Given the description of an element on the screen output the (x, y) to click on. 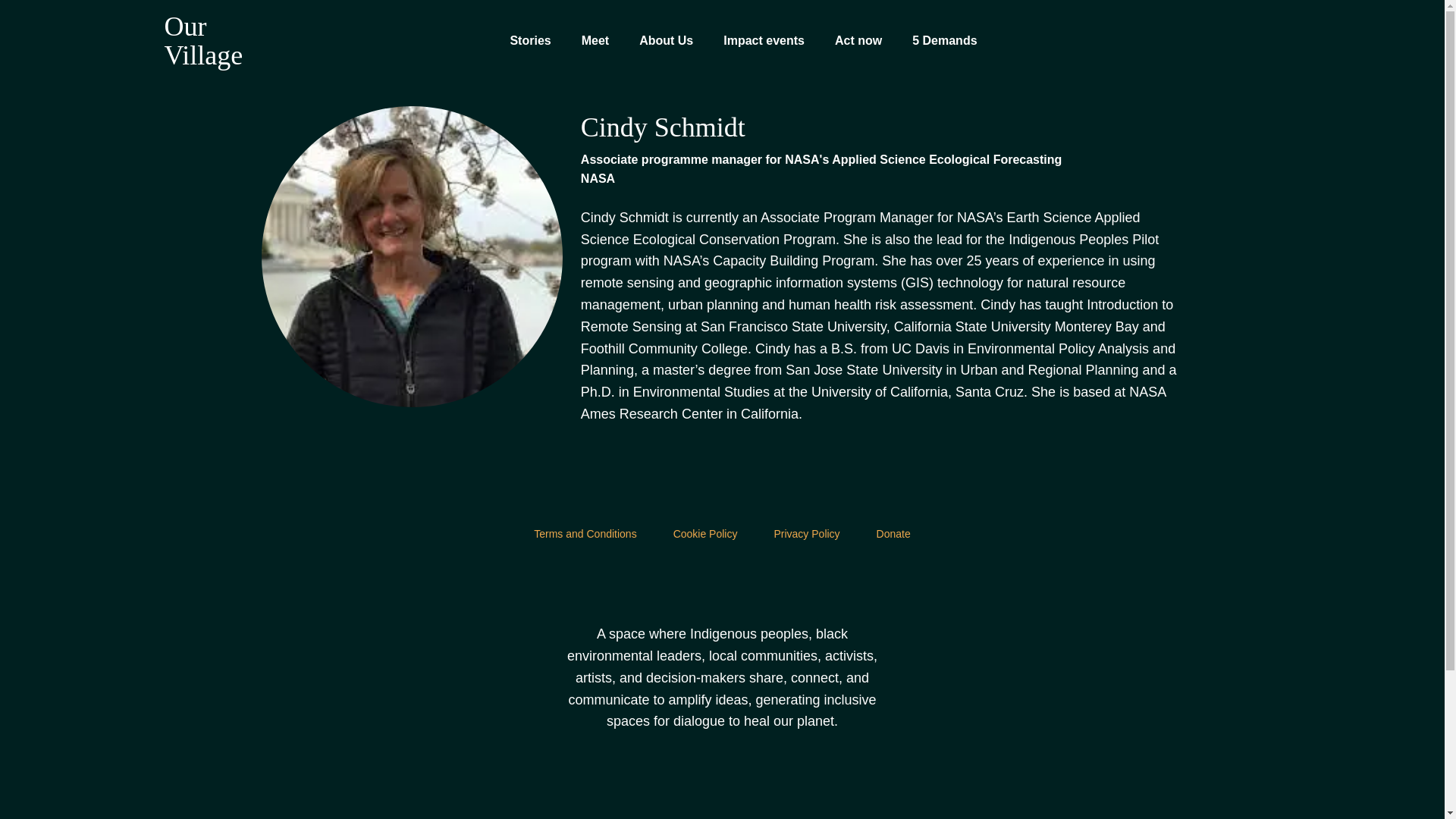
Terms and Conditions (585, 533)
Impact events (764, 40)
Act now (858, 40)
Meet (594, 40)
Privacy Policy (806, 533)
Instagram (721, 583)
About Us (666, 40)
Donate (893, 533)
5 Demands (944, 40)
Stories (529, 40)
